Given the description of an element on the screen output the (x, y) to click on. 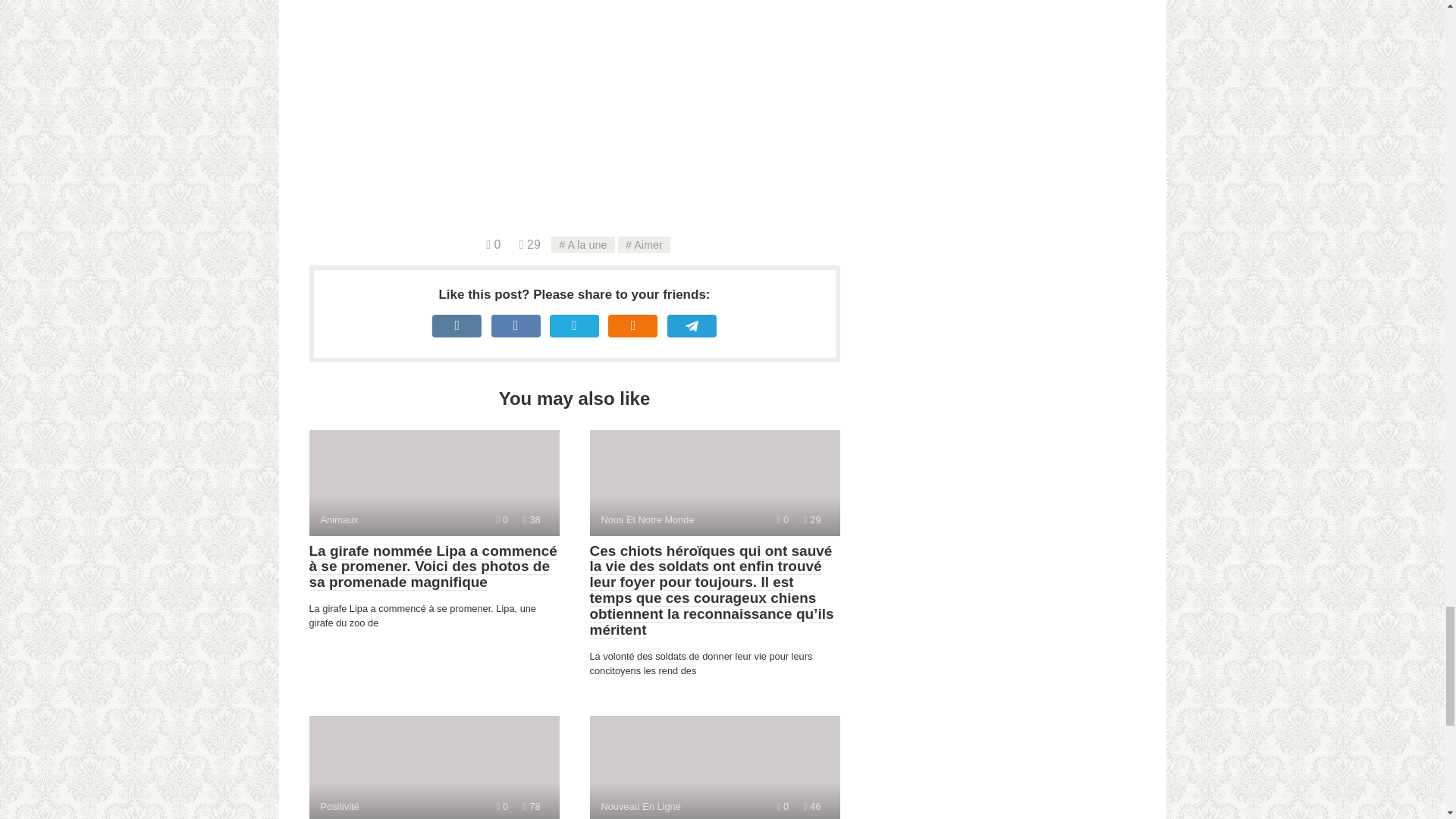
Comments (783, 806)
Views (531, 806)
Comments (783, 519)
Comments (502, 519)
Views (714, 767)
Views (812, 519)
Views (433, 482)
A la une (531, 519)
Comments (812, 806)
Comments (714, 482)
Aimer (582, 244)
Views (493, 244)
